Given the description of an element on the screen output the (x, y) to click on. 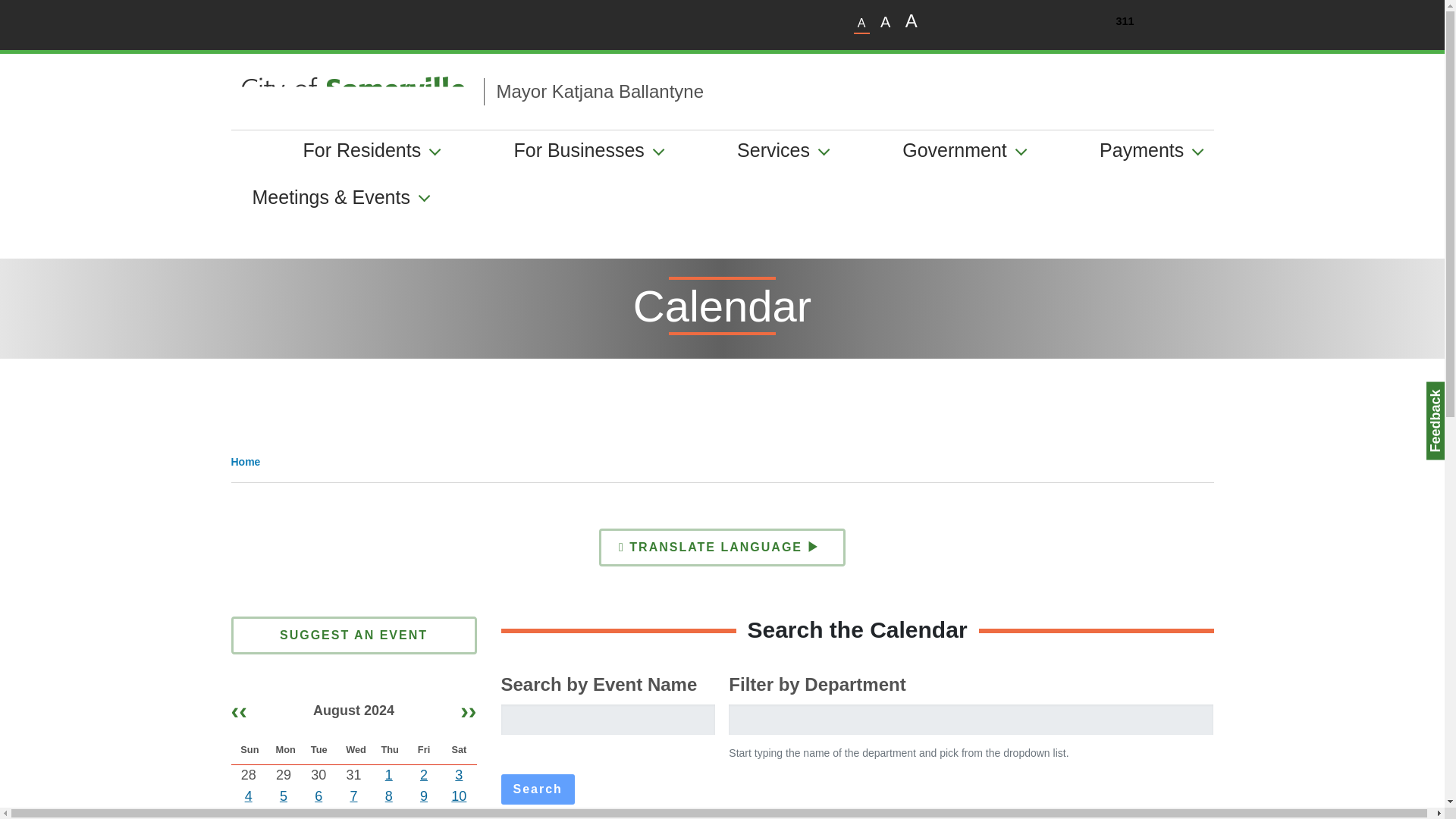
Search (536, 788)
Mayor Katjana Ballantyne (593, 91)
Select language to translate this page (721, 547)
